Given the description of an element on the screen output the (x, y) to click on. 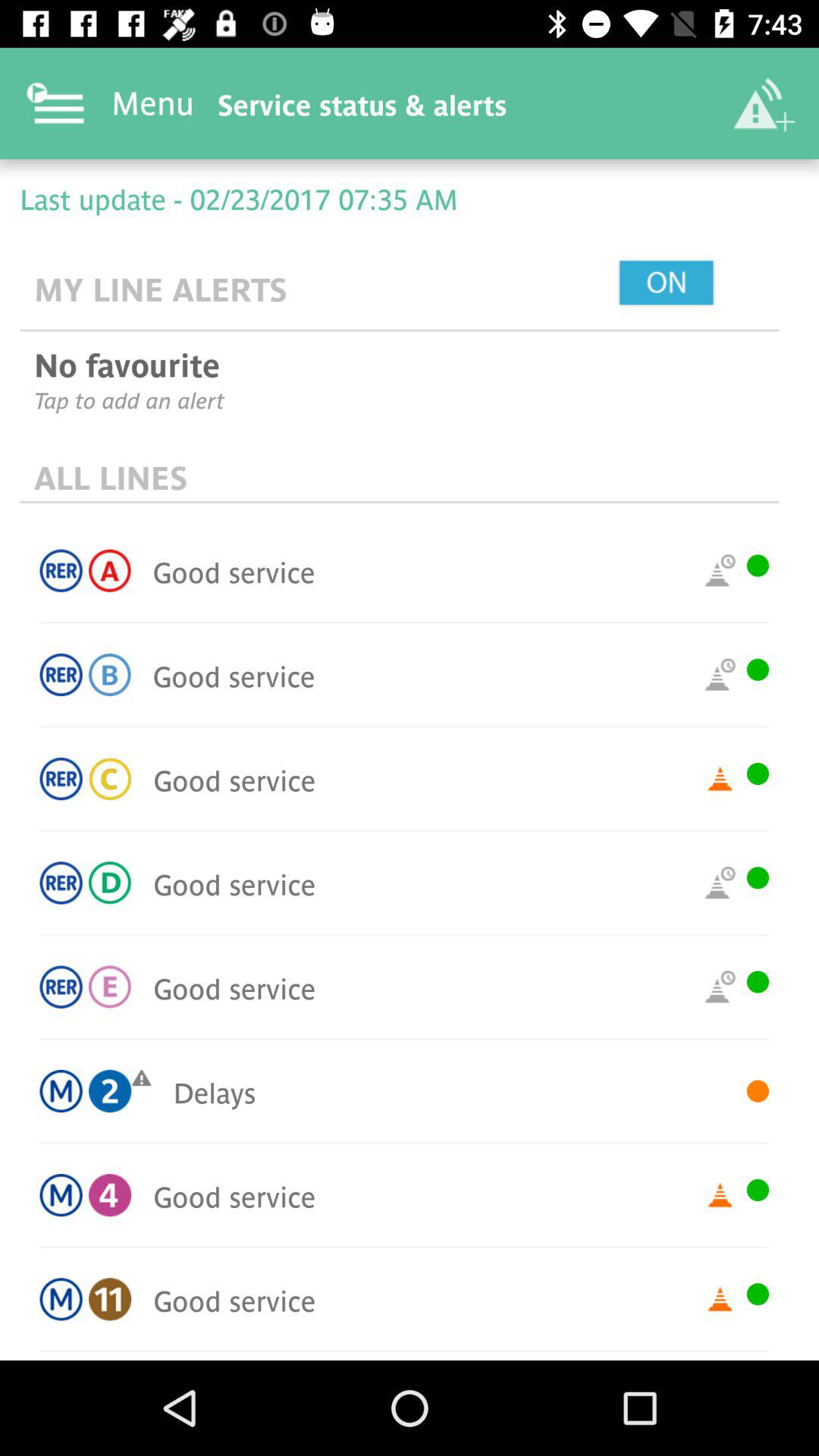
select the icon next to my line alerts item (700, 283)
